Given the description of an element on the screen output the (x, y) to click on. 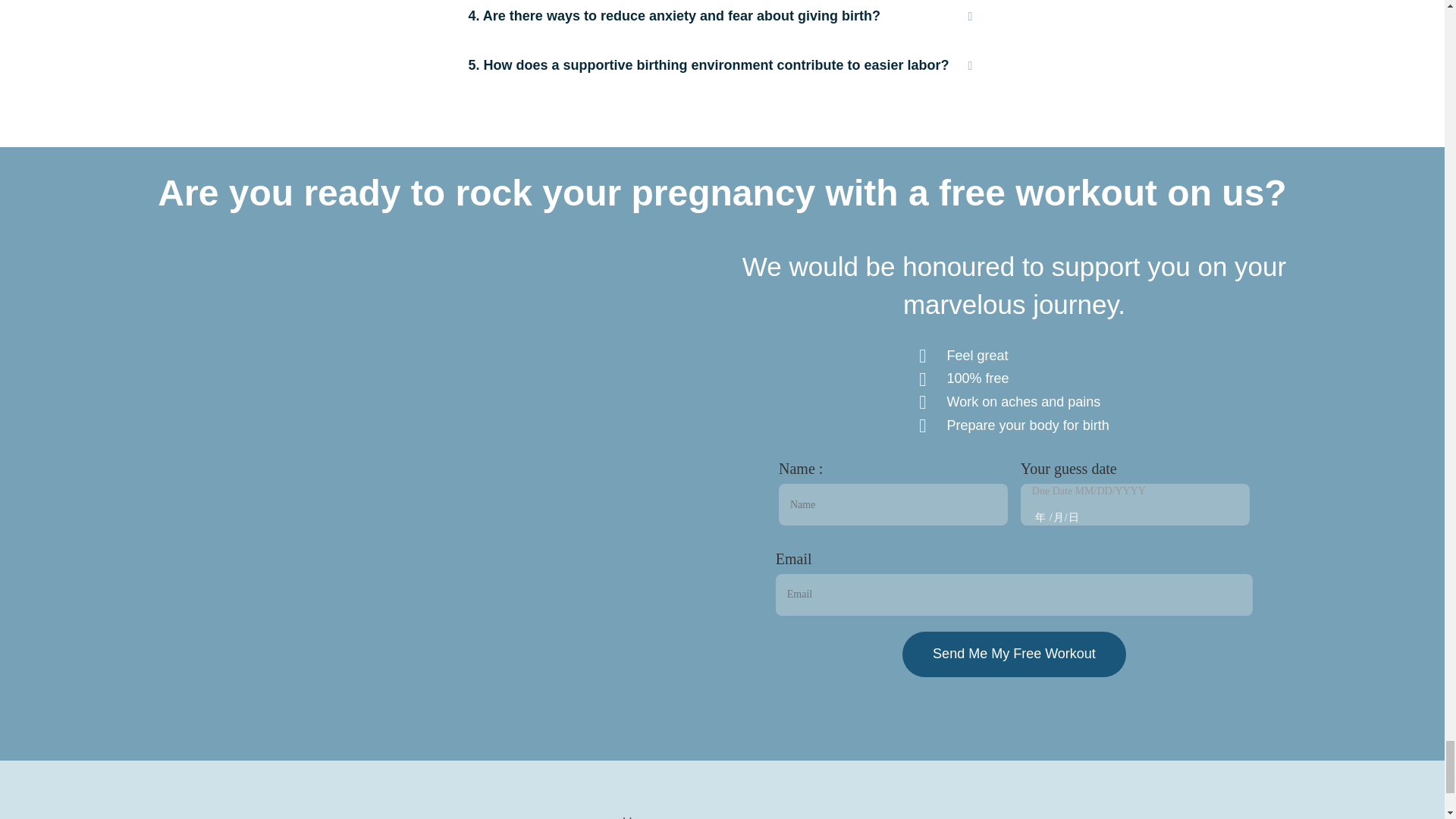
Send Me My Free Workout (1013, 654)
Send Me My Free Workout (1013, 654)
Homepage (754, 816)
